Given the description of an element on the screen output the (x, y) to click on. 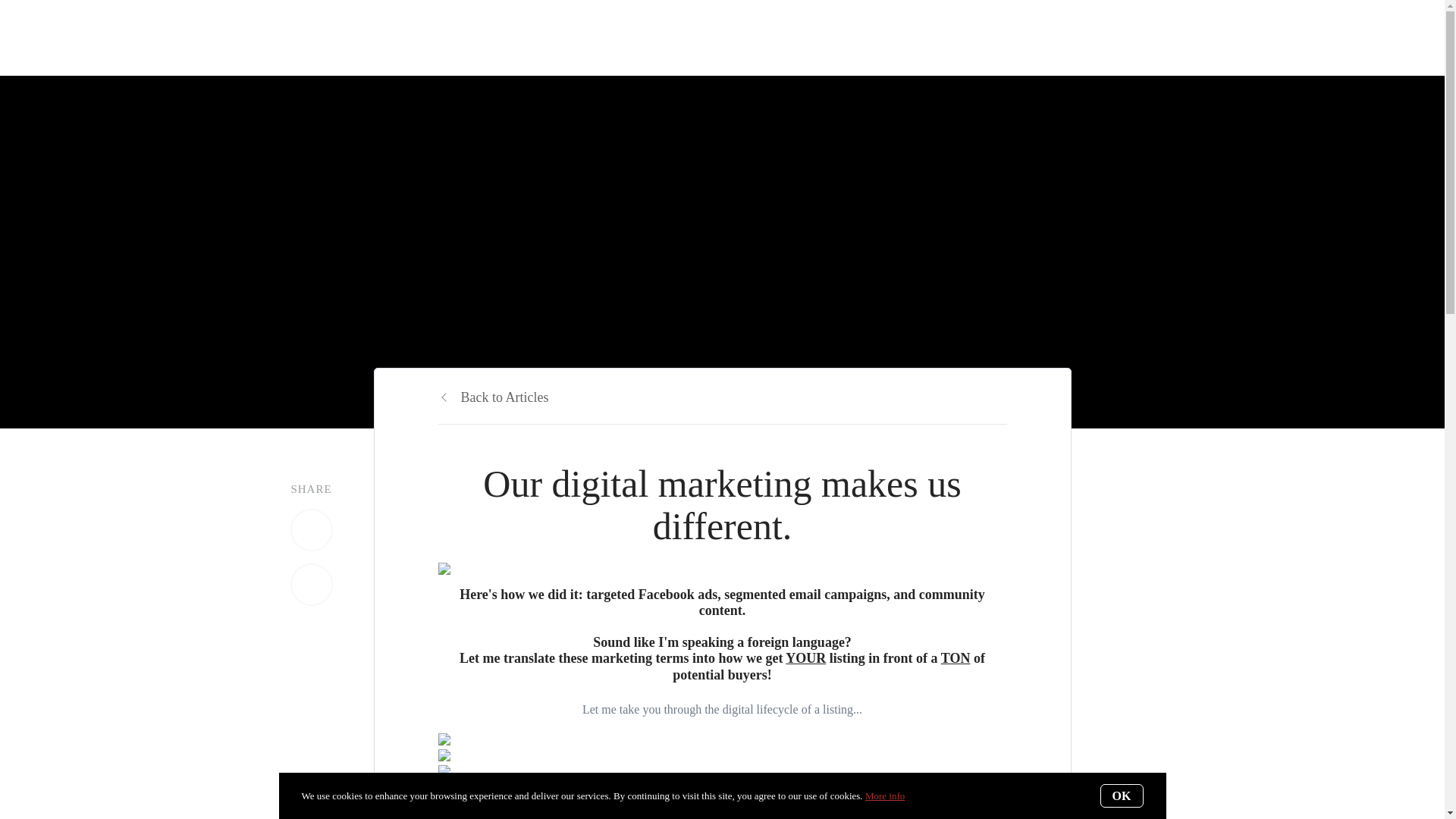
OK (1121, 795)
Back to Articles (493, 396)
More info (884, 795)
